Given the description of an element on the screen output the (x, y) to click on. 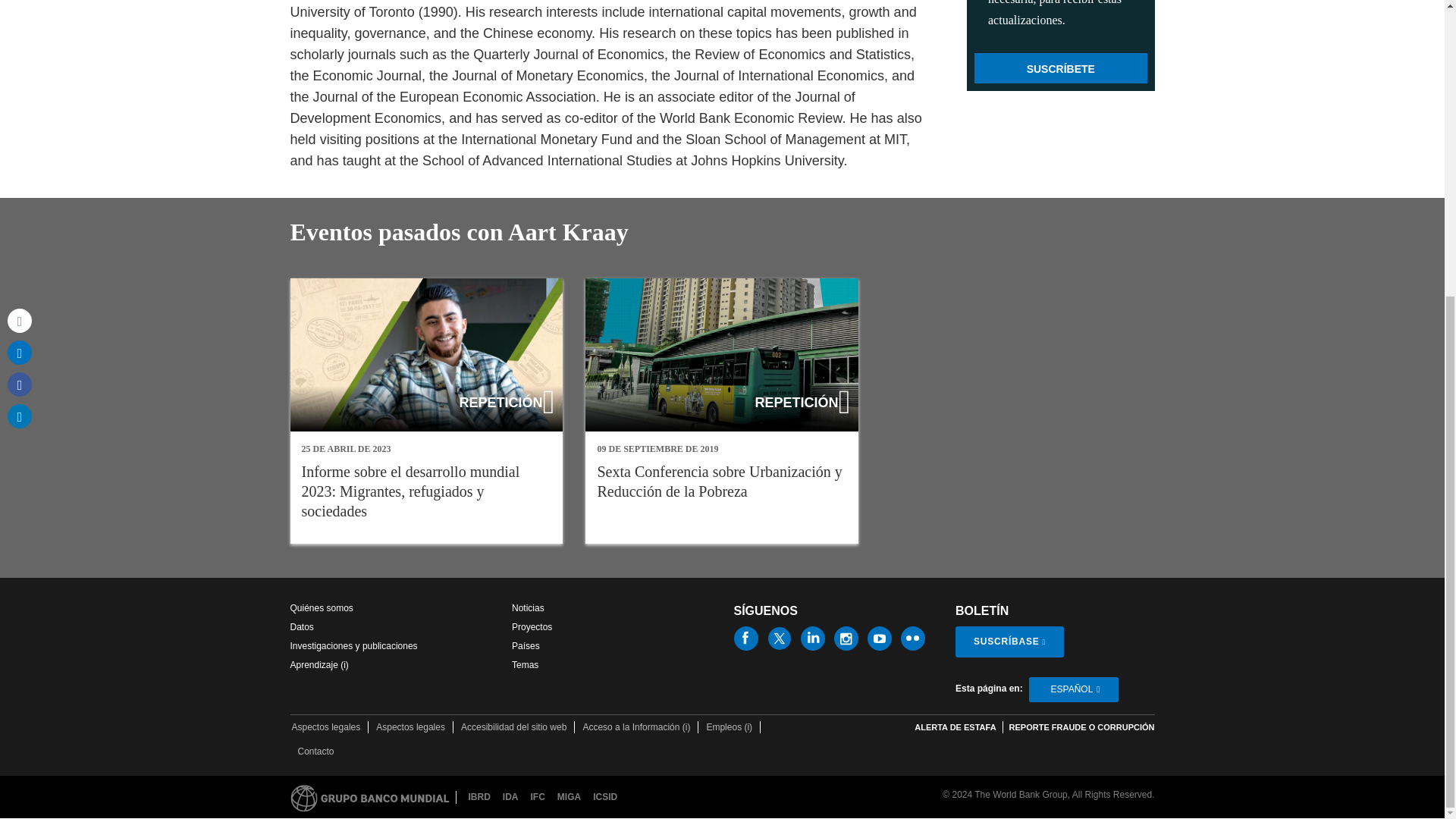
Datos (301, 626)
Investigaciones y publicaciones (352, 645)
Proyectos (531, 626)
Noticias (528, 607)
